Given the description of an element on the screen output the (x, y) to click on. 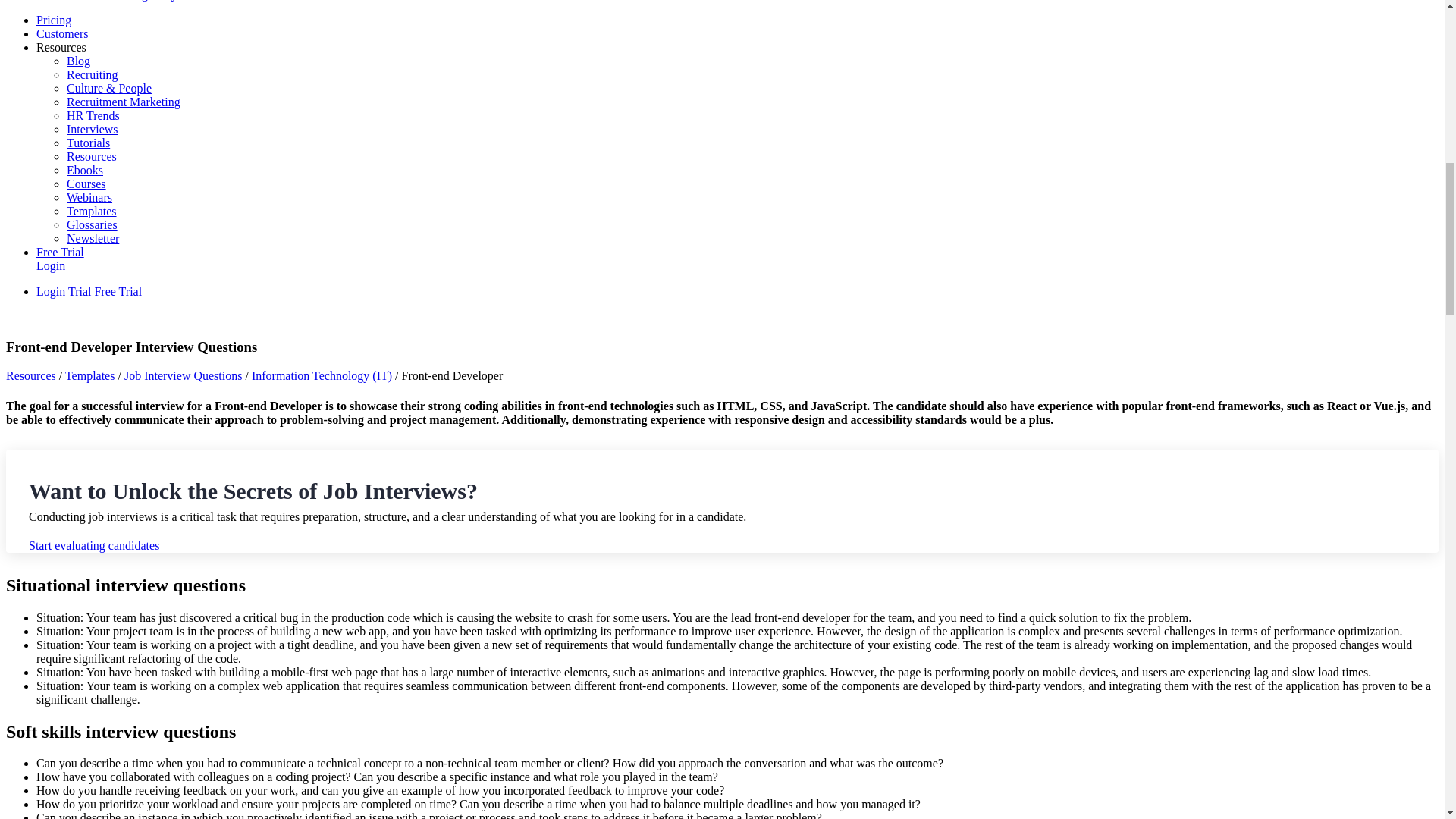
Webinars (89, 196)
Ebooks (84, 169)
Glossaries (91, 224)
Templates (90, 375)
Templates (91, 210)
Recruiting (91, 74)
Courses (86, 183)
Free Trial (117, 291)
Login (50, 265)
Interviews (91, 128)
Trial (79, 291)
Resources (91, 155)
Tutorials (88, 142)
Start evaluating candidates (93, 545)
Resources (30, 375)
